Given the description of an element on the screen output the (x, y) to click on. 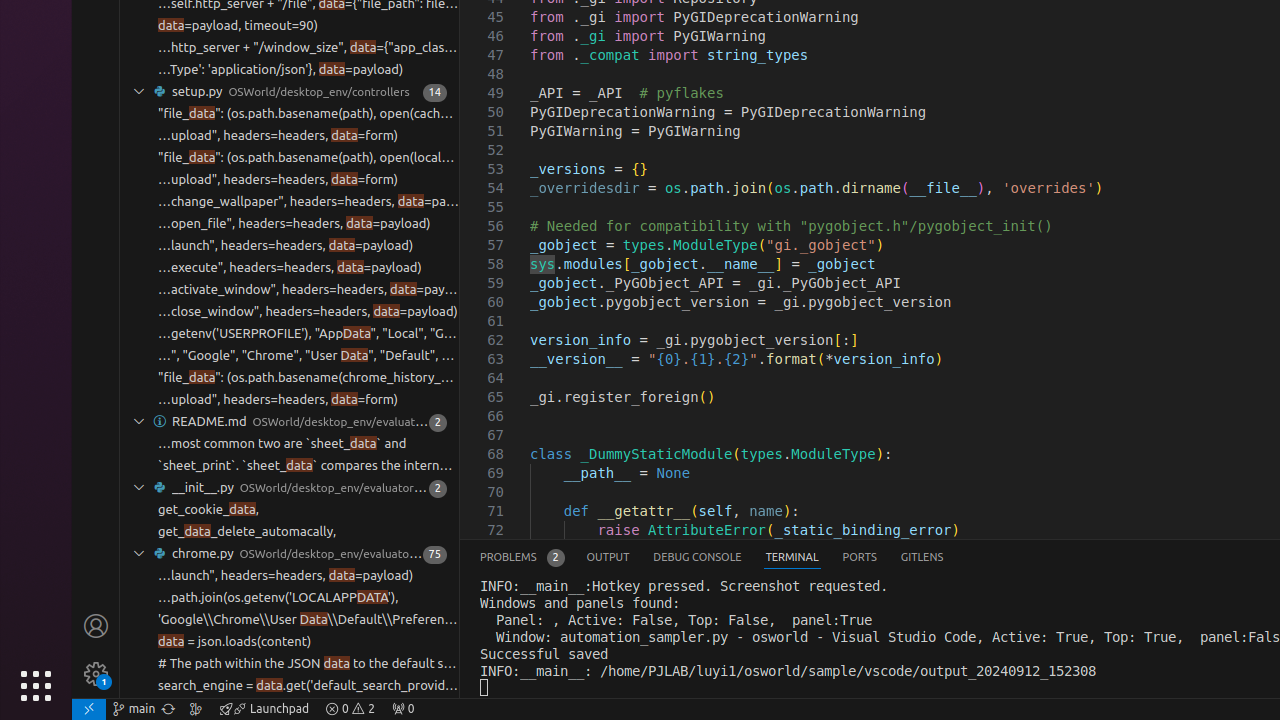
…close_window", headers=headers, data=payload) Element type: link (308, 311)
…execute", headers=headers, data=payload) Element type: link (290, 267)
' data = json.loads(content)' at column 9 found data Element type: tree-item (289, 641)
Active View Switcher Element type: page-tab-list (712, 557)
"file_data": (os.path.basename(chrome_history_path), open(db_path, "rb")) Element type: link (308, 377)
